Given the description of an element on the screen output the (x, y) to click on. 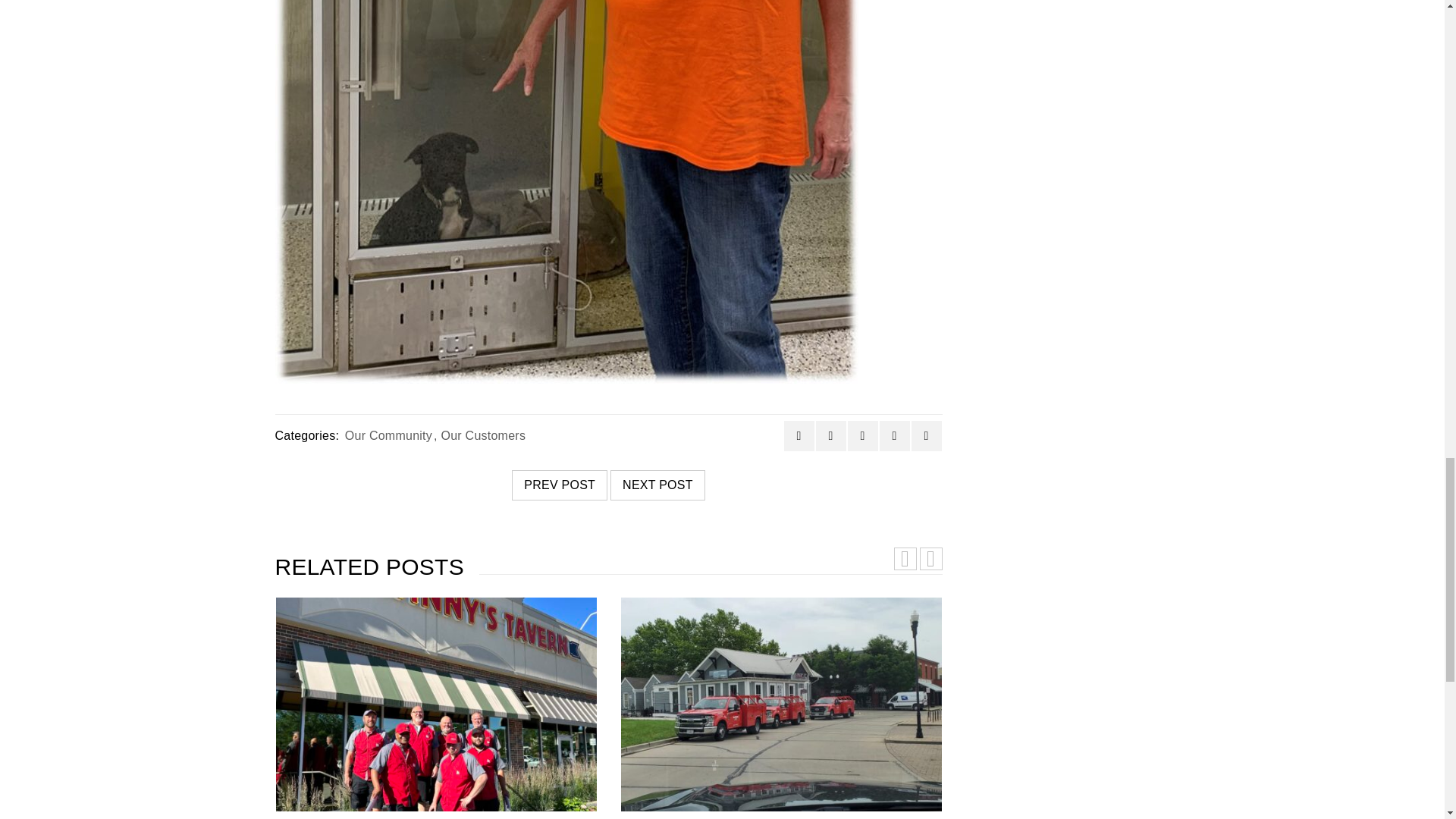
Our Customers (483, 435)
Our Community (388, 435)
NEXT POST (657, 485)
PREV POST (559, 485)
